Given the description of an element on the screen output the (x, y) to click on. 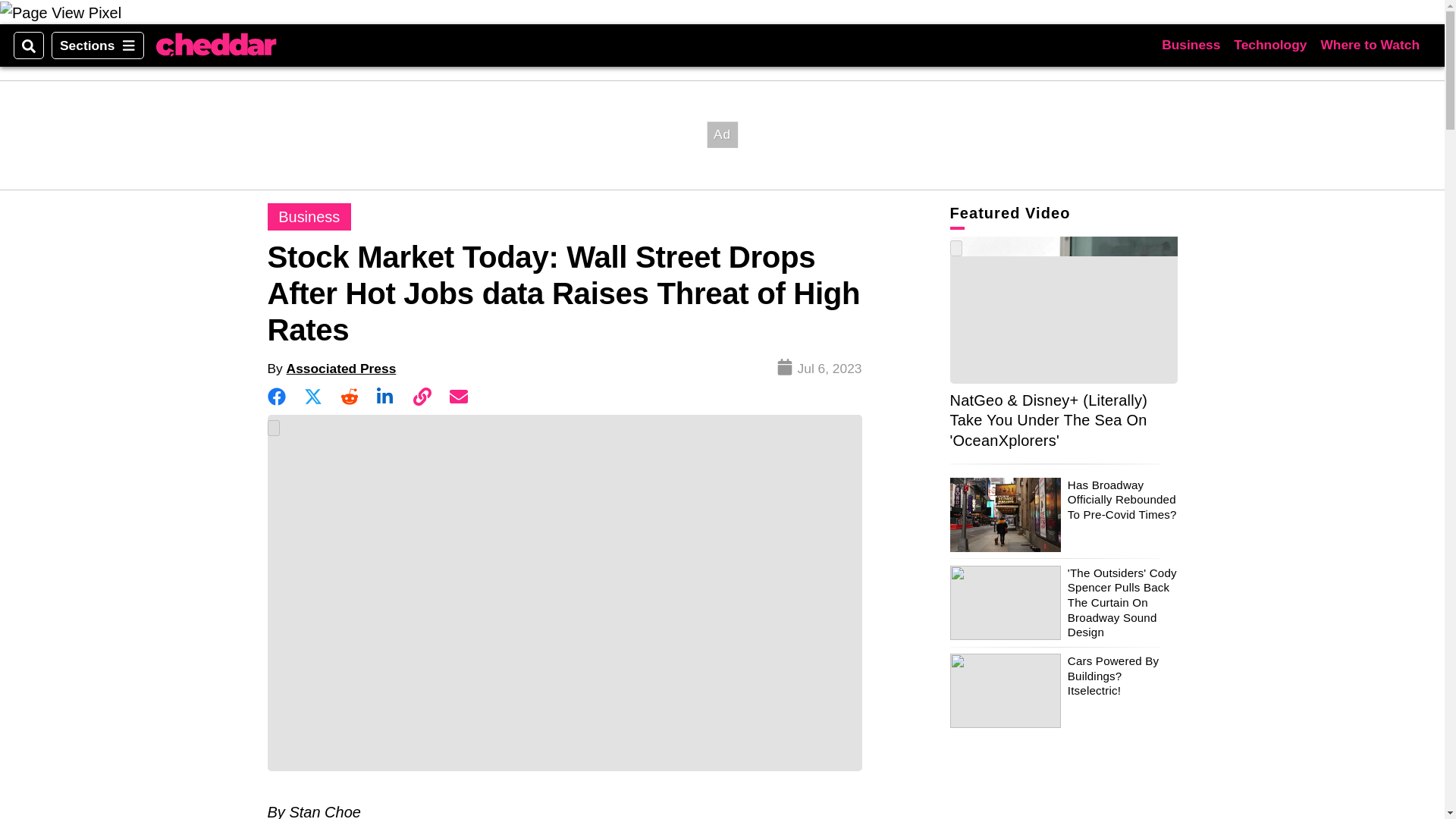
Cheddar Logo (215, 44)
Business (308, 216)
Sections (97, 44)
Where to Watch (1369, 44)
Technology (1269, 44)
Business (1190, 44)
Associated Press (341, 368)
